Given the description of an element on the screen output the (x, y) to click on. 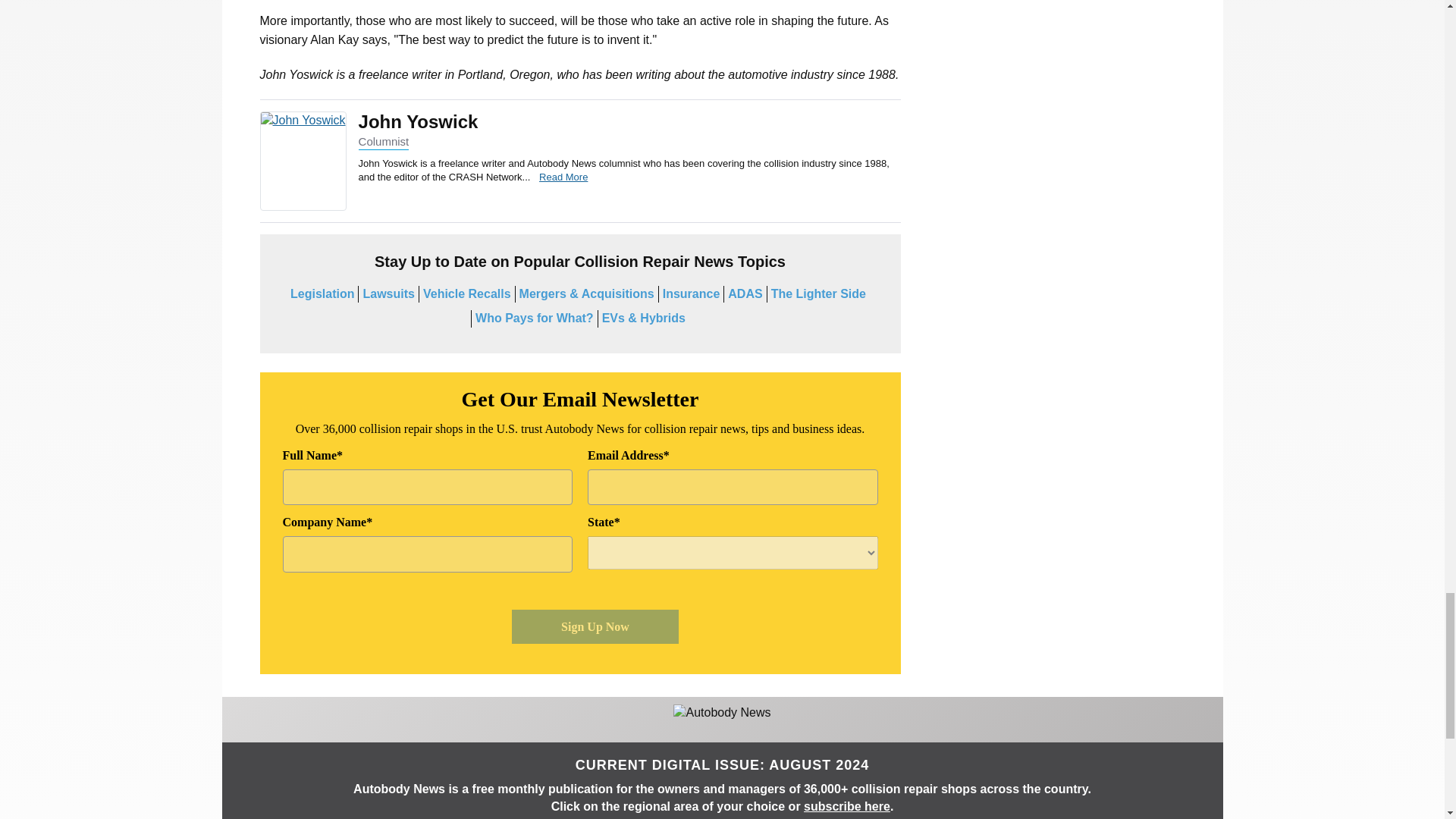
Vehicle Recalls (467, 293)
Who Pays for What? (535, 318)
Lawsuits (387, 293)
The Lighter Side (818, 293)
Insurance (691, 293)
ADAS (744, 293)
Legislation (321, 293)
